Given the description of an element on the screen output the (x, y) to click on. 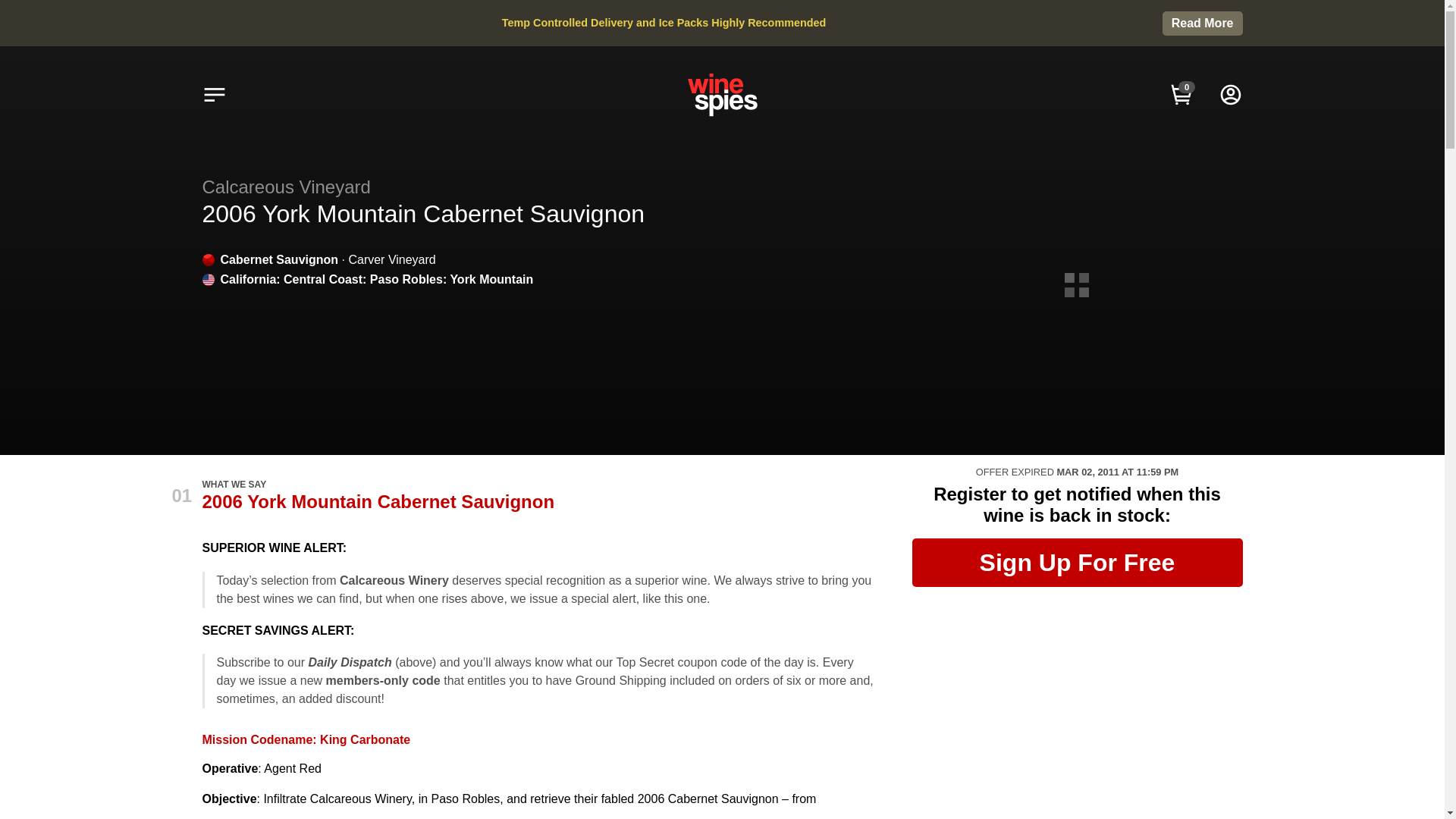
0 (1181, 94)
Read More (1202, 23)
Sign Up For Free (1076, 562)
